Given the description of an element on the screen output the (x, y) to click on. 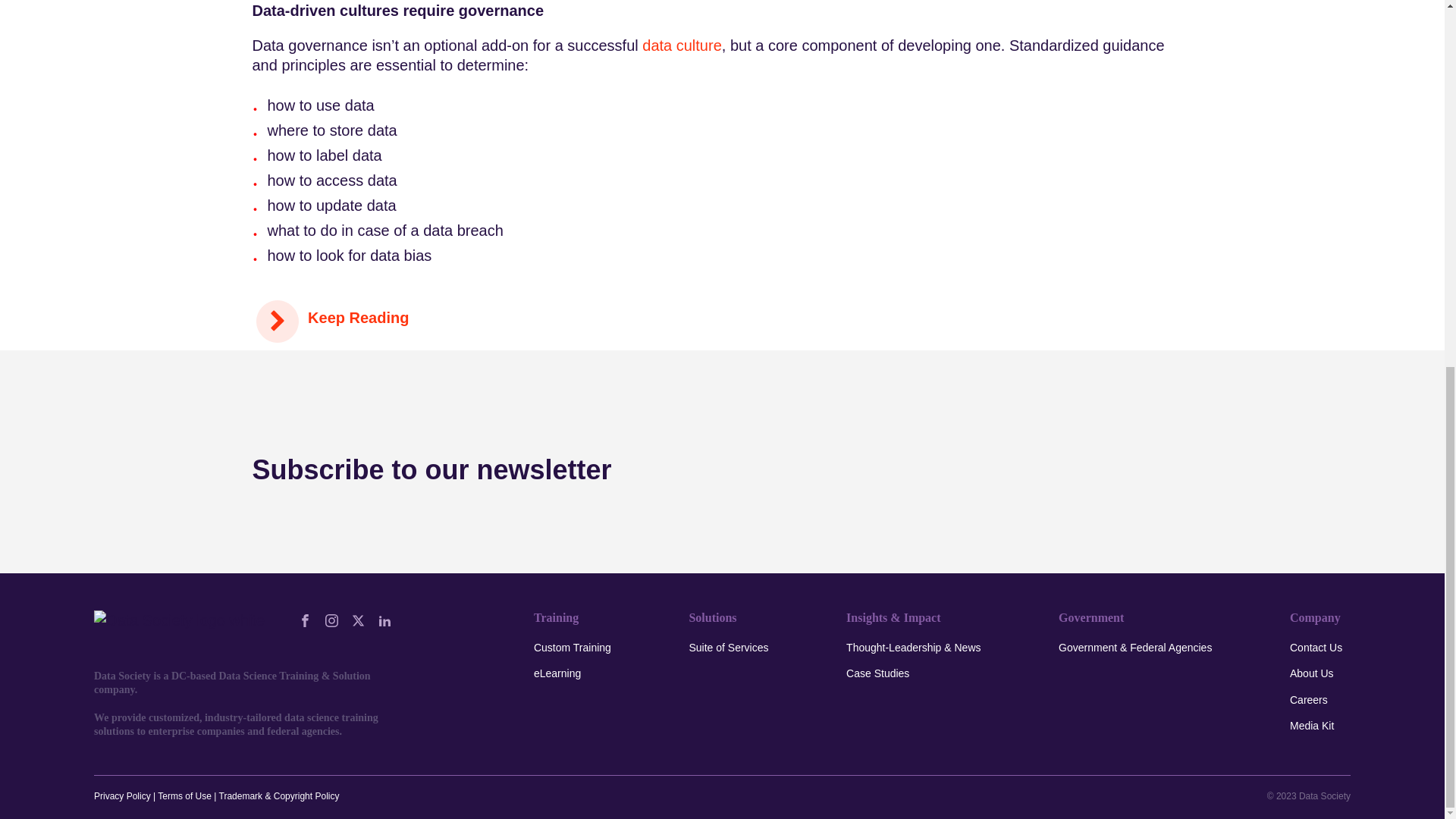
data culture (682, 45)
Training (556, 617)
Keep Reading (332, 321)
